Given the description of an element on the screen output the (x, y) to click on. 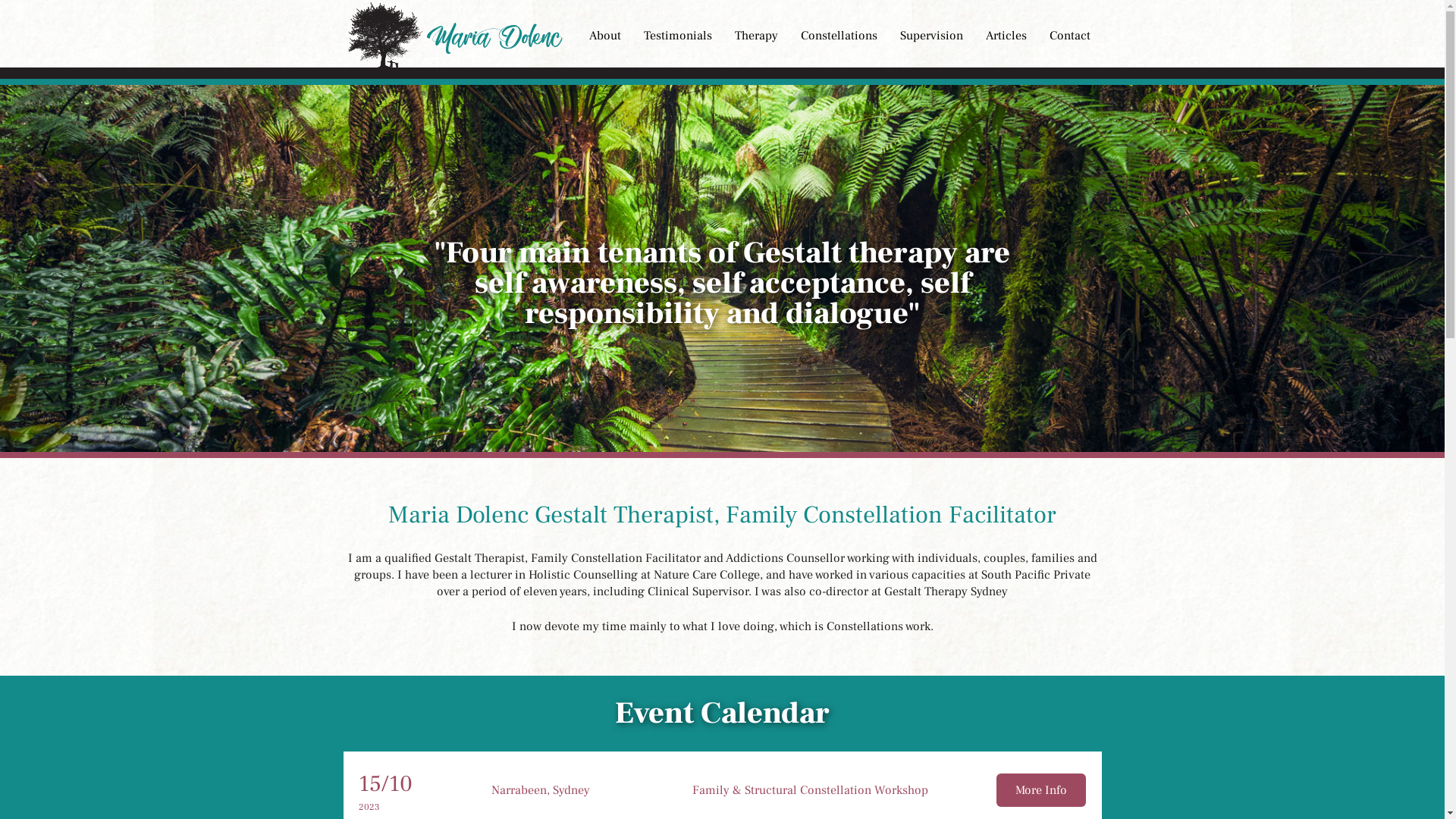
Testimonials Element type: text (677, 33)
Articles Element type: text (1005, 33)
About Element type: text (604, 33)
Therapy Element type: text (756, 33)
Supervision Element type: text (931, 33)
Constellations Element type: text (838, 33)
More Info Element type: text (1040, 789)
Contact Element type: text (1069, 33)
